Given the description of an element on the screen output the (x, y) to click on. 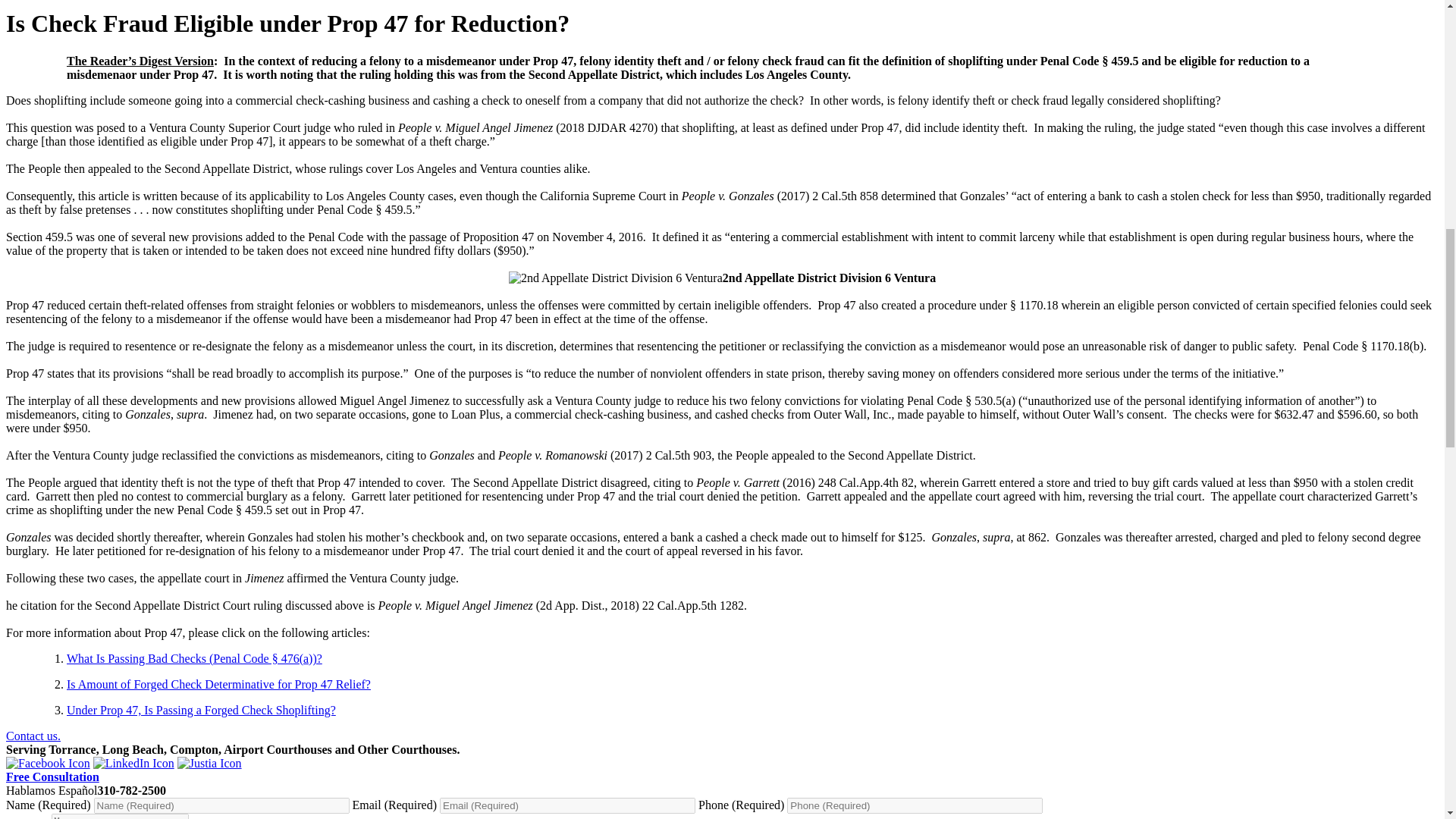
LinkedIn (133, 762)
Under Prop 47, Is Passing a Forged Check Shoplifting? (201, 709)
Facebook (47, 762)
Is Amount of Forged Check Determinative for Prop 47 Relief? (218, 684)
Justia (209, 762)
